Given the description of an element on the screen output the (x, y) to click on. 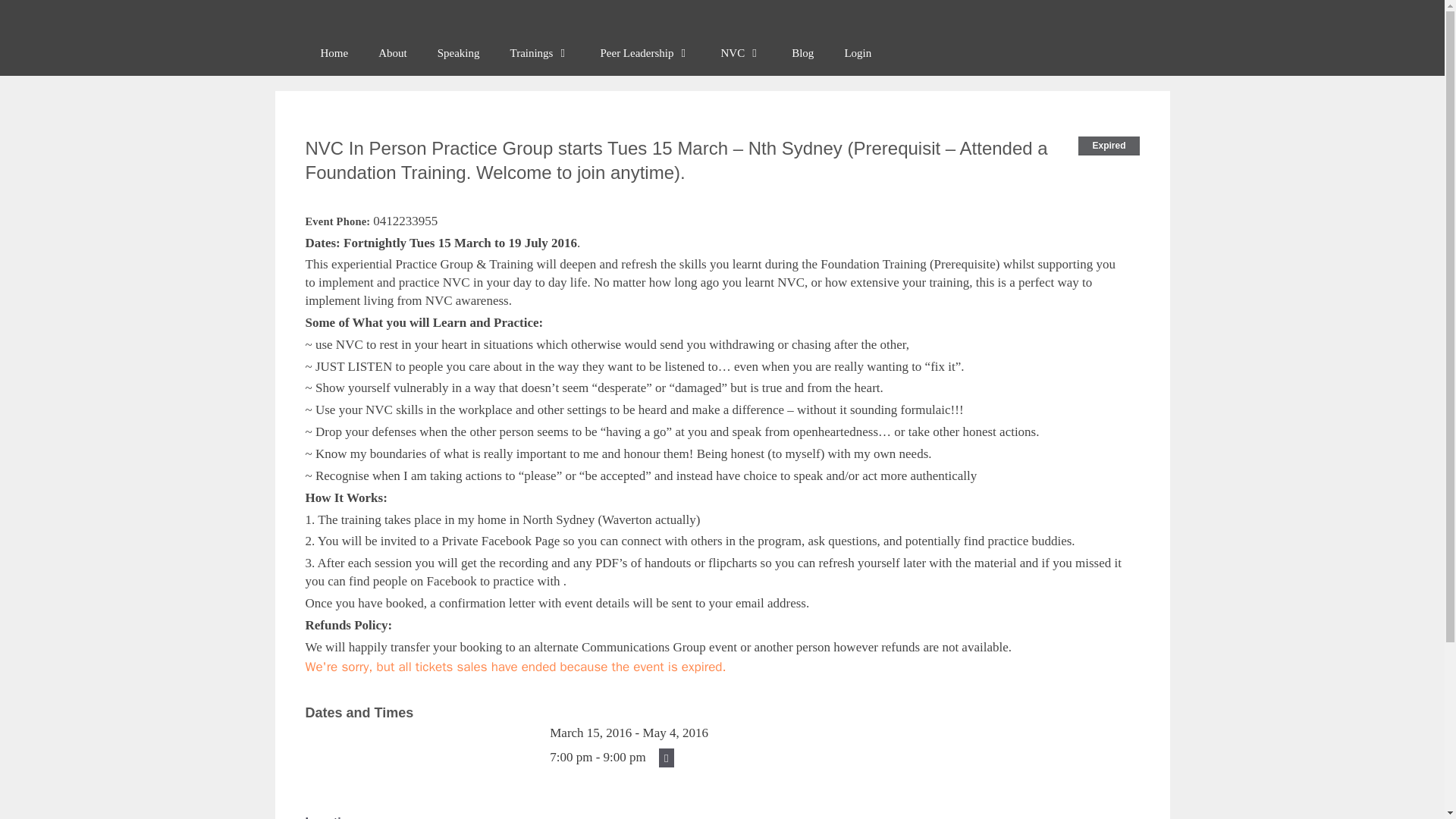
Trainings (540, 53)
Speaking (458, 53)
Blog (802, 53)
Login (857, 53)
About (392, 53)
NVC (741, 53)
Home (333, 53)
Peer Leadership (644, 53)
